Given the description of an element on the screen output the (x, y) to click on. 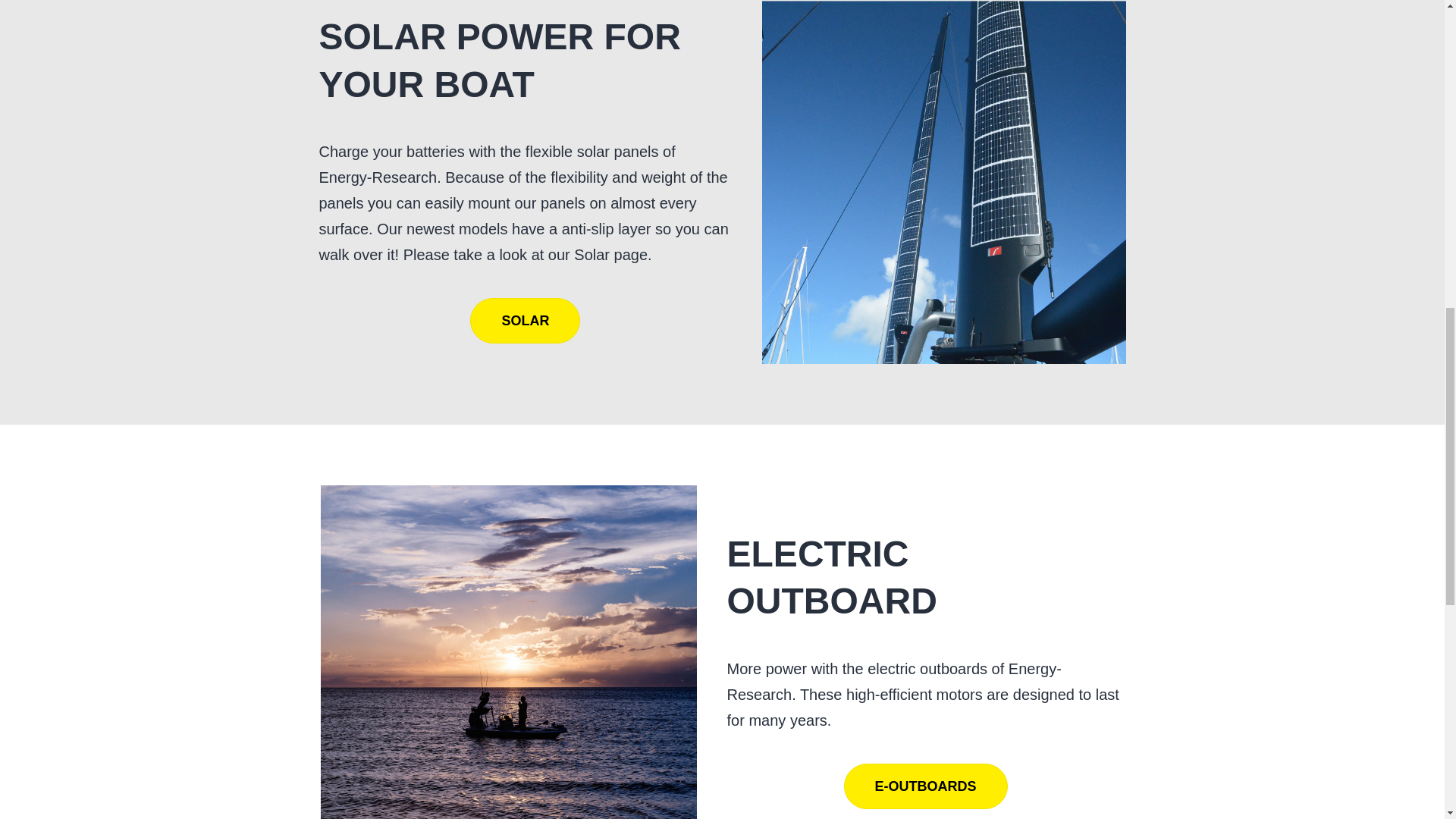
Untitled-11 (507, 652)
SOLAR (524, 320)
E-OUTBOARDS (925, 786)
Untitled-1 (943, 181)
